Given the description of an element on the screen output the (x, y) to click on. 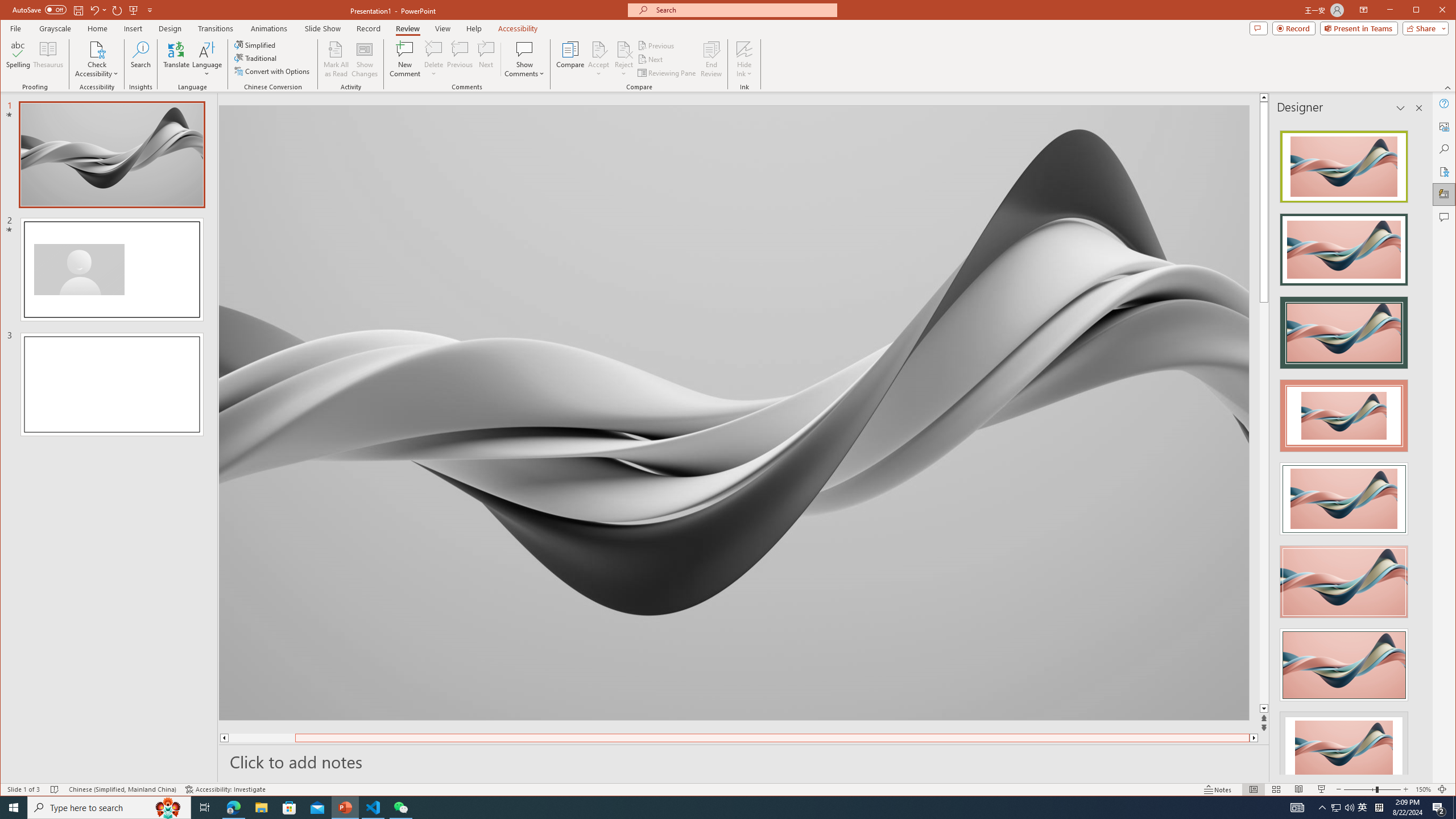
Language (207, 59)
Convert with Options... (272, 70)
Reviewing Pane (667, 72)
Next (651, 59)
